Given the description of an element on the screen output the (x, y) to click on. 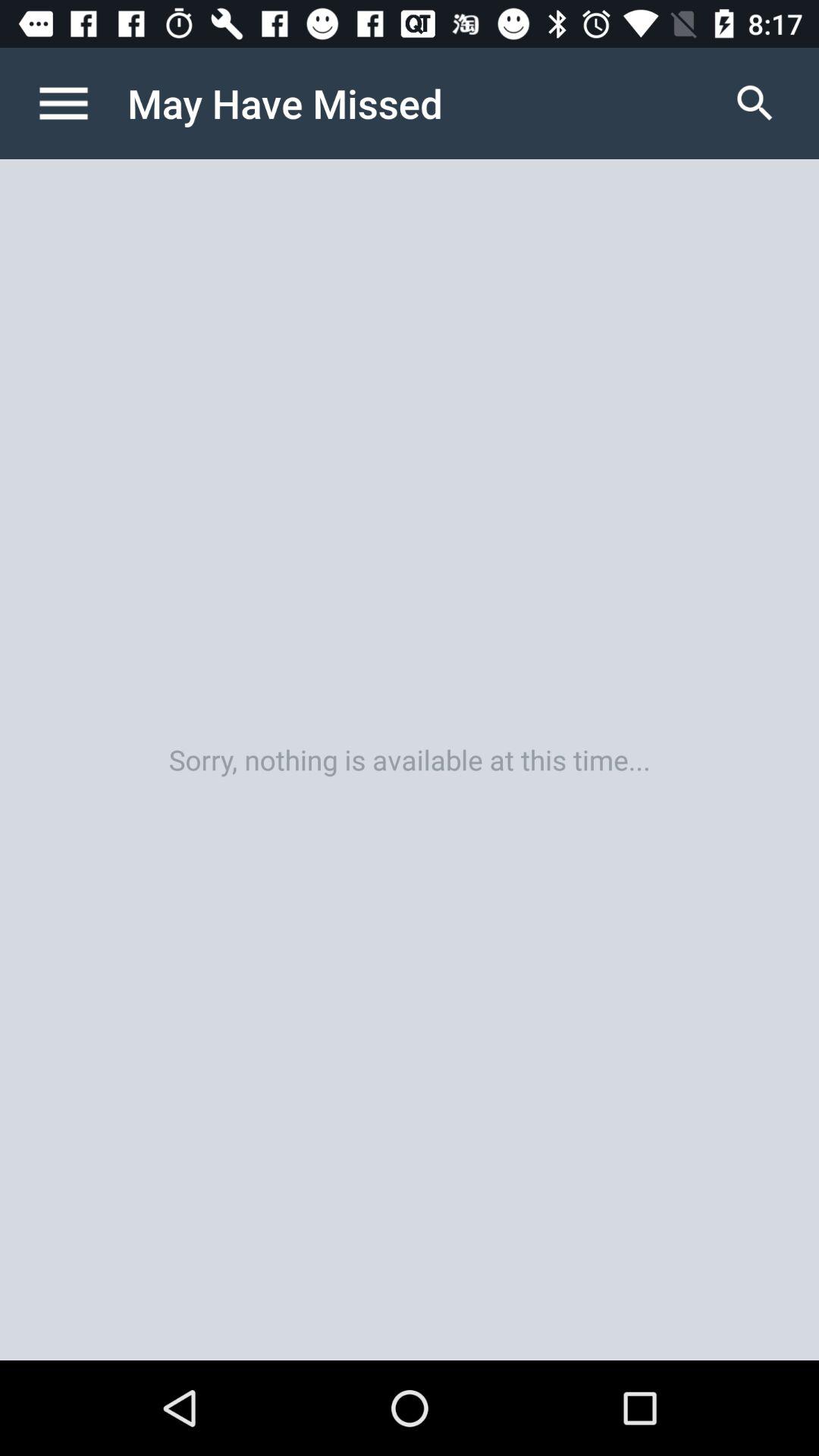
click icon at the top right corner (755, 103)
